Given the description of an element on the screen output the (x, y) to click on. 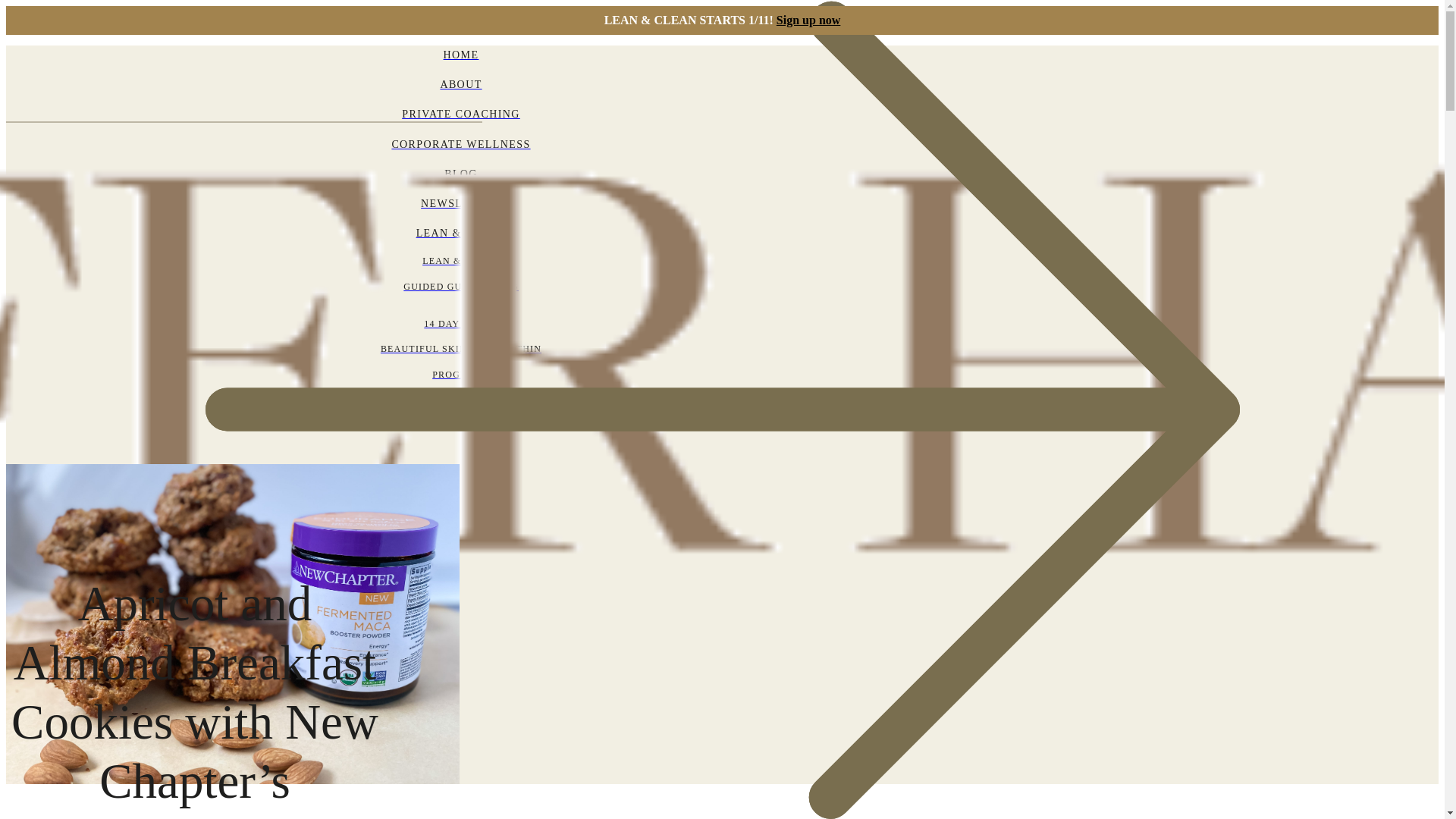
PRIVATE COACHING (460, 113)
GUIDED GUT HEALING (460, 287)
14 DAY DETOX (460, 323)
NEWSLETTER (460, 203)
CORPORATE WELLNESS (460, 144)
ABOUT (460, 84)
HOME (460, 54)
BLOG (460, 173)
Sign up now (808, 19)
BEAUTIFUL SKIN FROM WITHIN (460, 349)
PROGRAMS (460, 375)
